Given the description of an element on the screen output the (x, y) to click on. 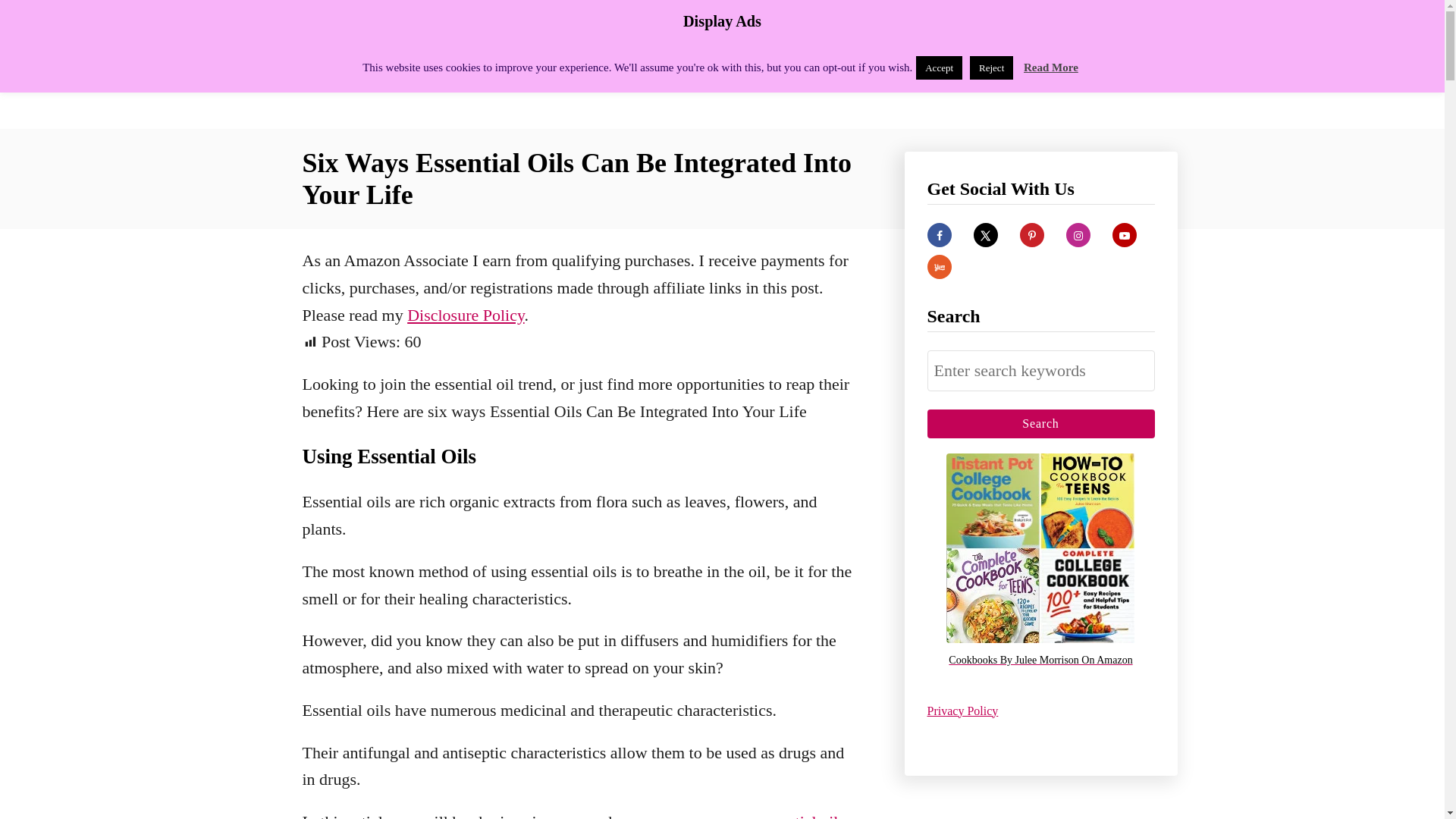
Cookbooks By Julee Morrison On Amazon (1040, 660)
Disclosure Policy (465, 313)
Follow on Facebook (938, 234)
Follow on X (985, 234)
Follow on Instagram (1077, 234)
Search (1040, 423)
Search (1040, 423)
Search (1040, 423)
Search for: (1040, 370)
essential oil (798, 815)
